Given the description of an element on the screen output the (x, y) to click on. 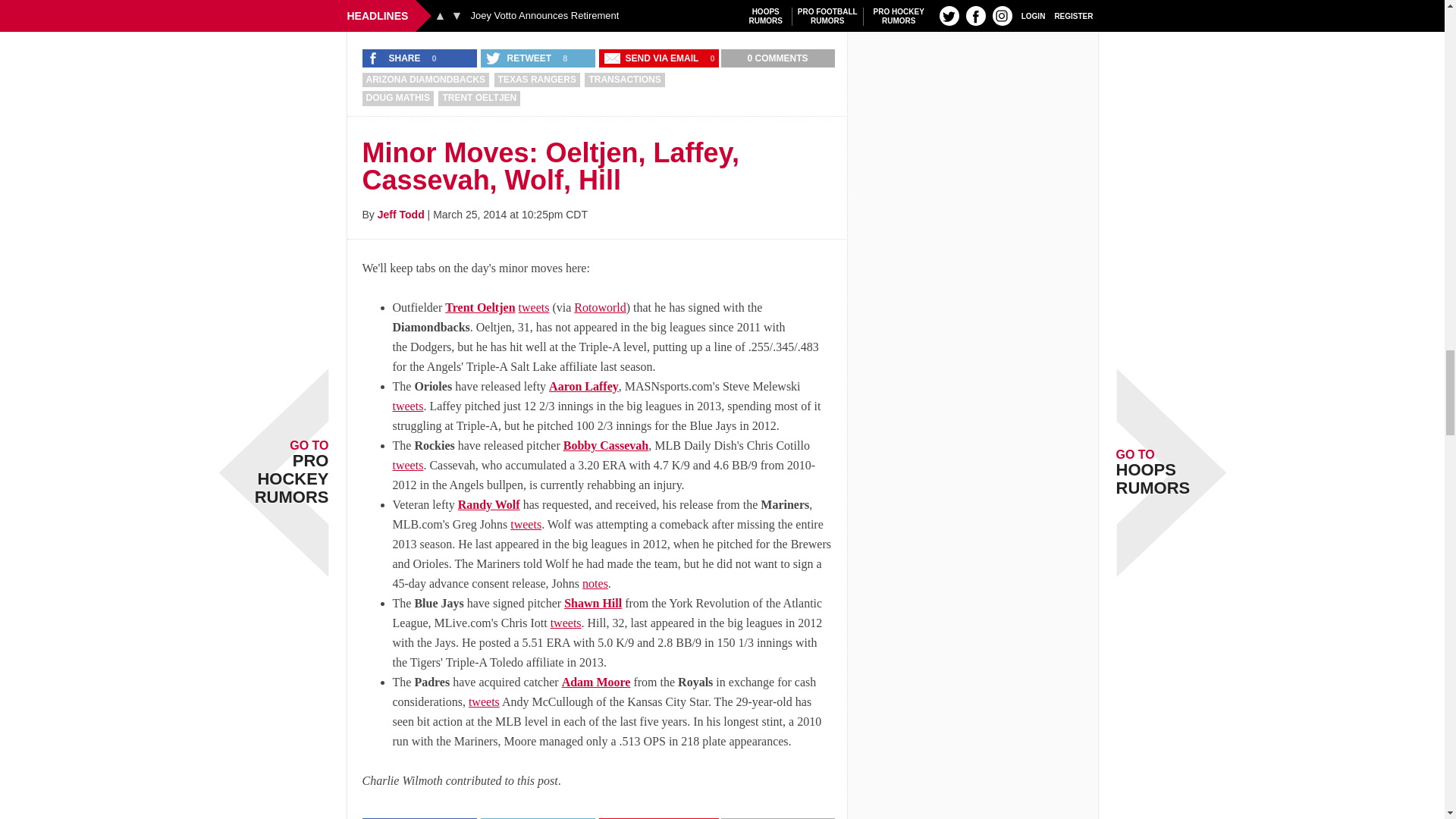
Retweet 'Minor Moves: Oeltjen, Mathis' on Twitter (519, 58)
Send Minor Moves: Oeltjen, Mathis with an email (652, 58)
Share 'Minor Moves: Oeltjen, Mathis' on Facebook (395, 58)
